Given the description of an element on the screen output the (x, y) to click on. 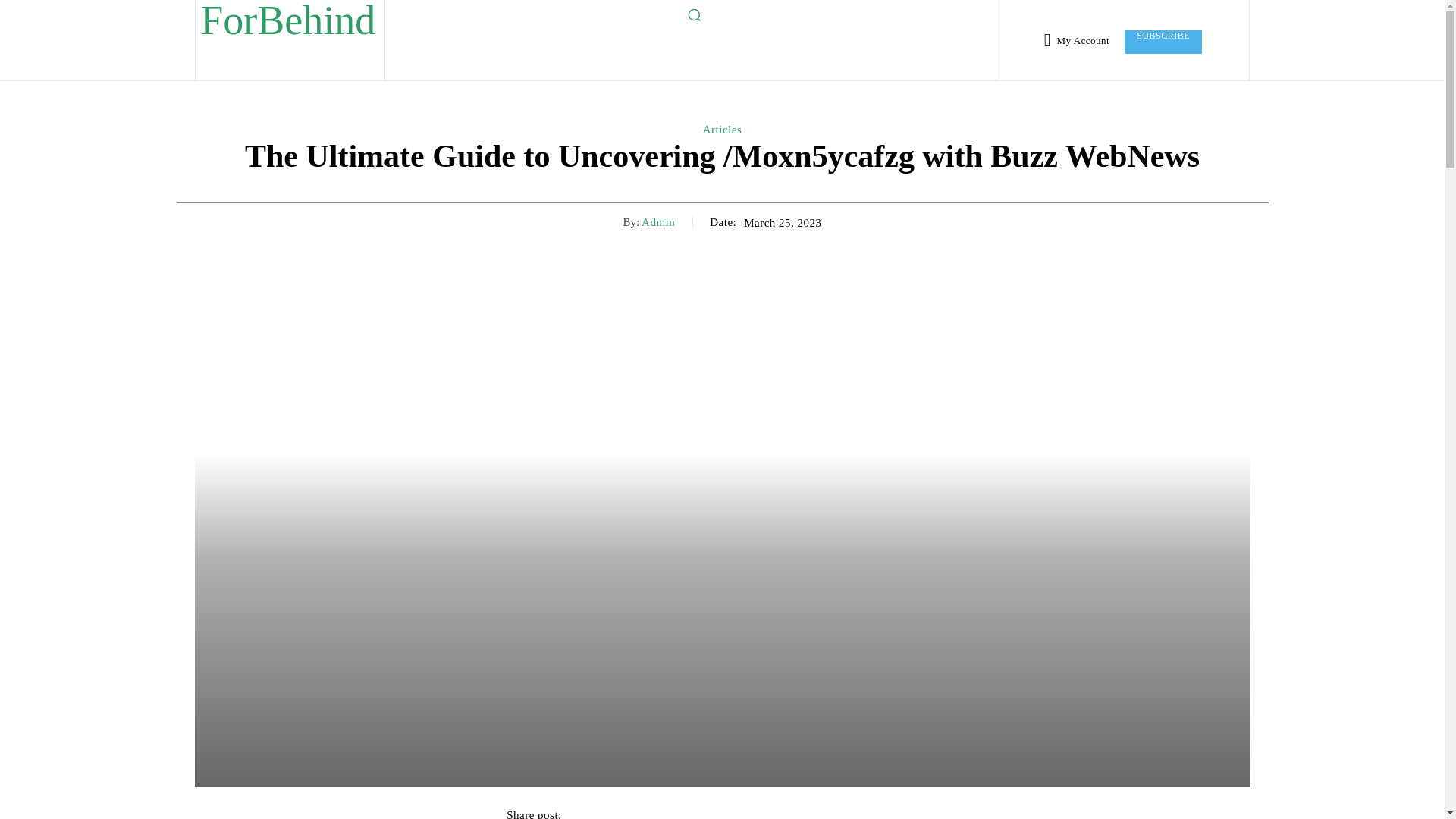
SUBSCRIBE (1163, 42)
ForBehind (287, 23)
Admin (658, 222)
Articles (722, 129)
